Given the description of an element on the screen output the (x, y) to click on. 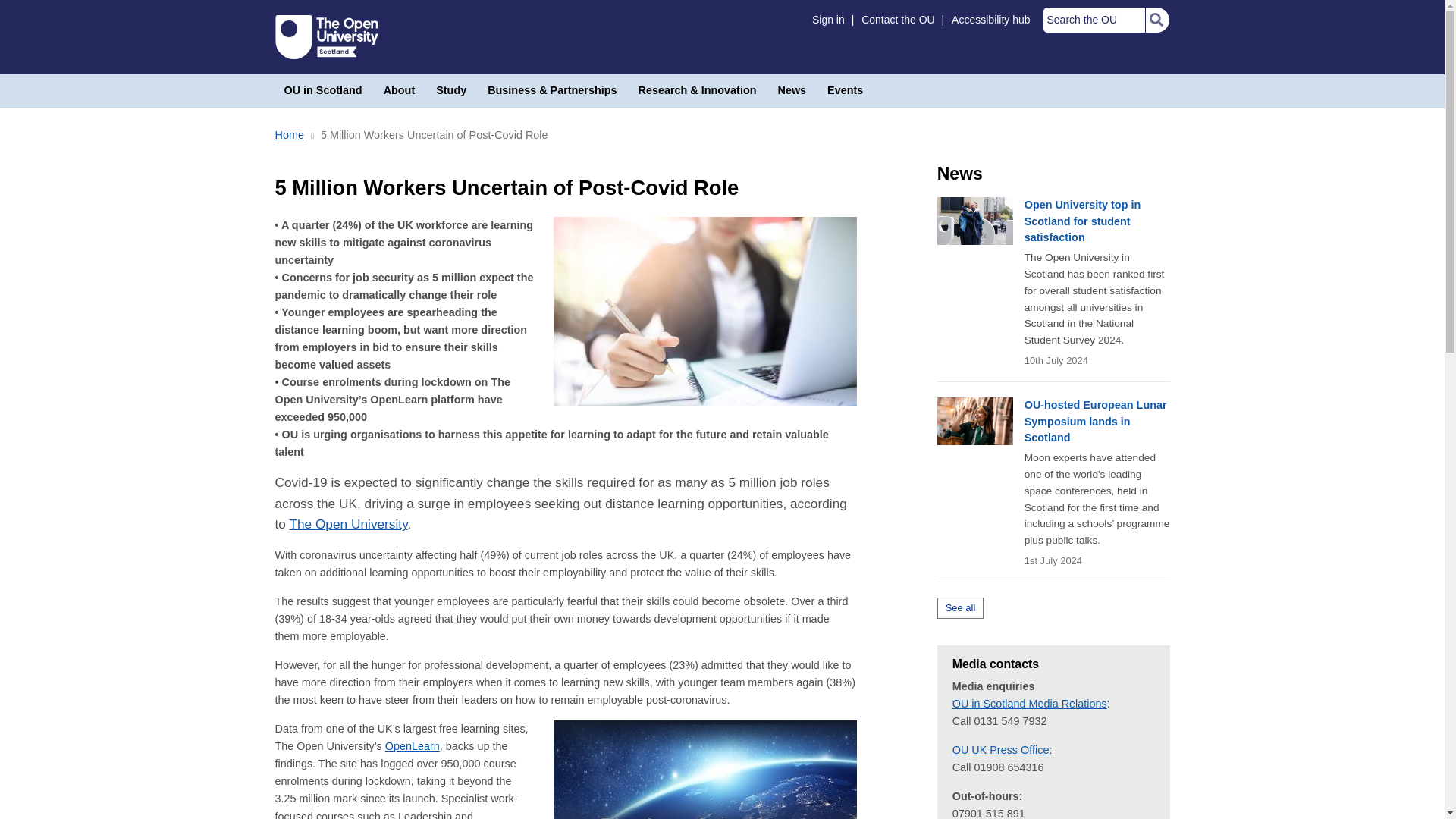
Contact the OU (898, 19)
Search (1156, 19)
Home (288, 134)
Search (1156, 19)
Events (845, 90)
OU in Scotland (323, 90)
The Open University (326, 36)
OpenLearn (412, 746)
